Given the description of an element on the screen output the (x, y) to click on. 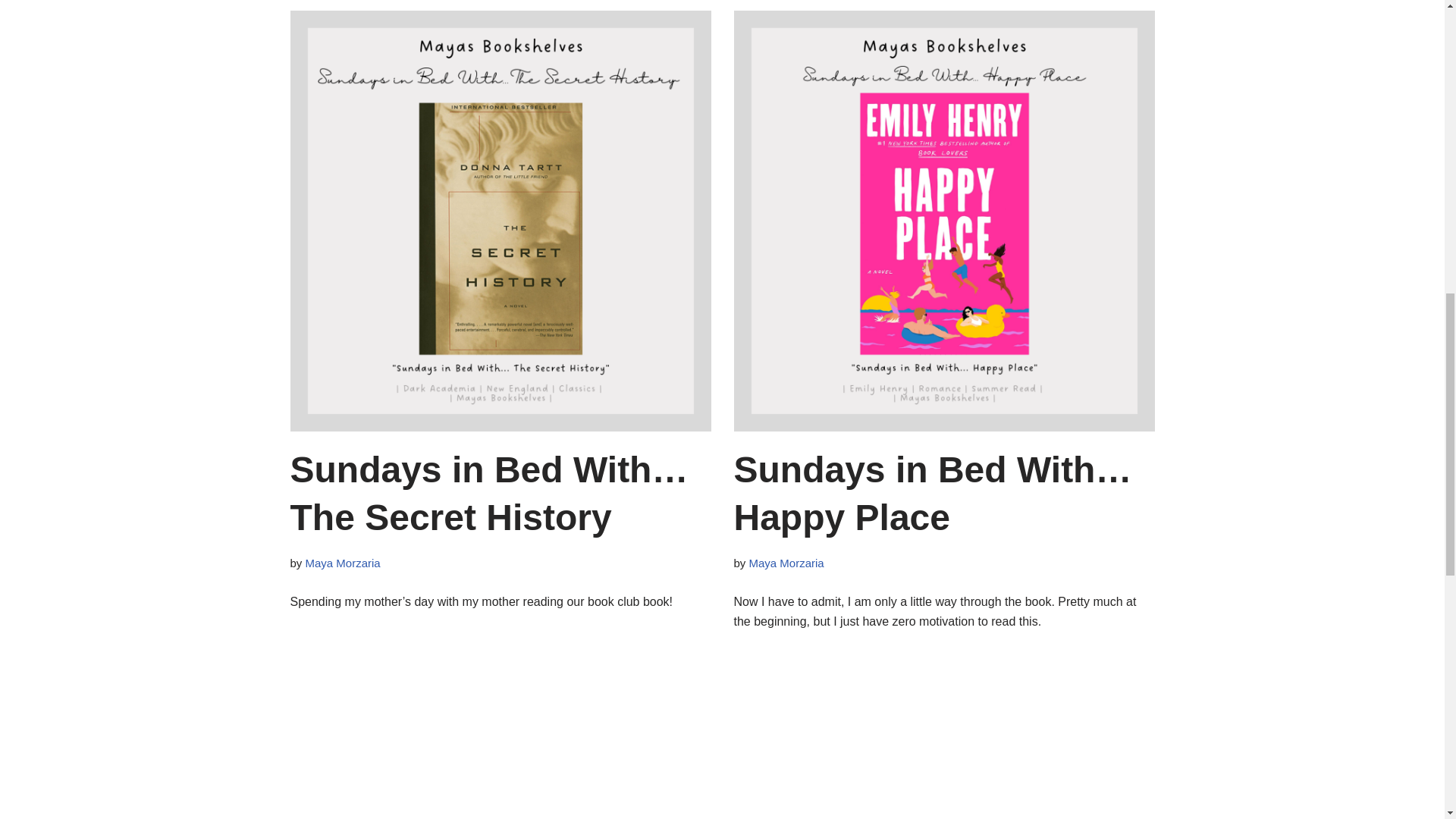
Maya Morzaria (342, 562)
Posts by Maya Morzaria (786, 562)
Posts by Maya Morzaria (342, 562)
